Given the description of an element on the screen output the (x, y) to click on. 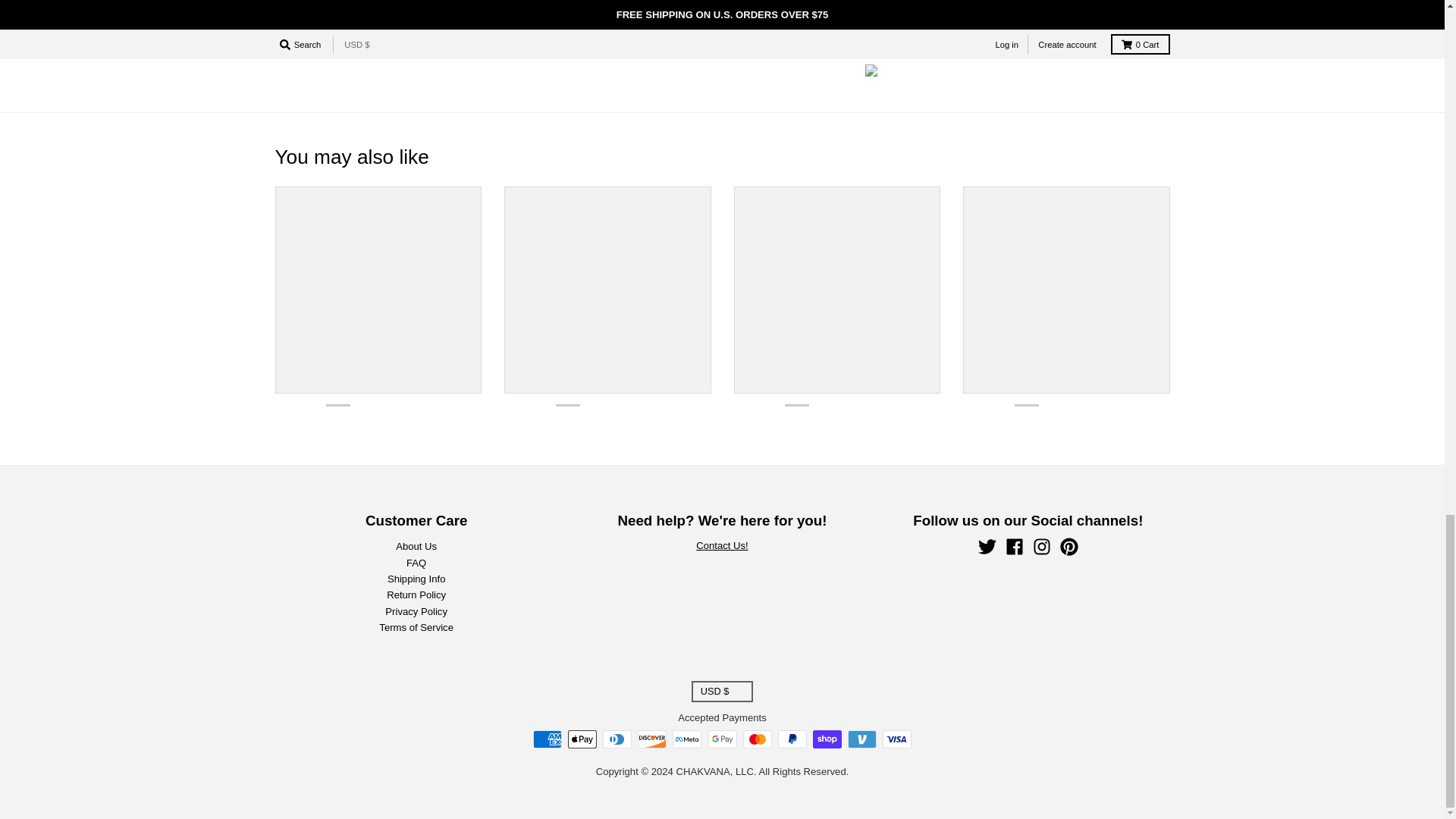
Pinterest - CHAKVANA (1068, 546)
Instagram - CHAKVANA (1041, 546)
Twitter - CHAKVANA (986, 546)
Facebook - CHAKVANA (1014, 546)
